Given the description of an element on the screen output the (x, y) to click on. 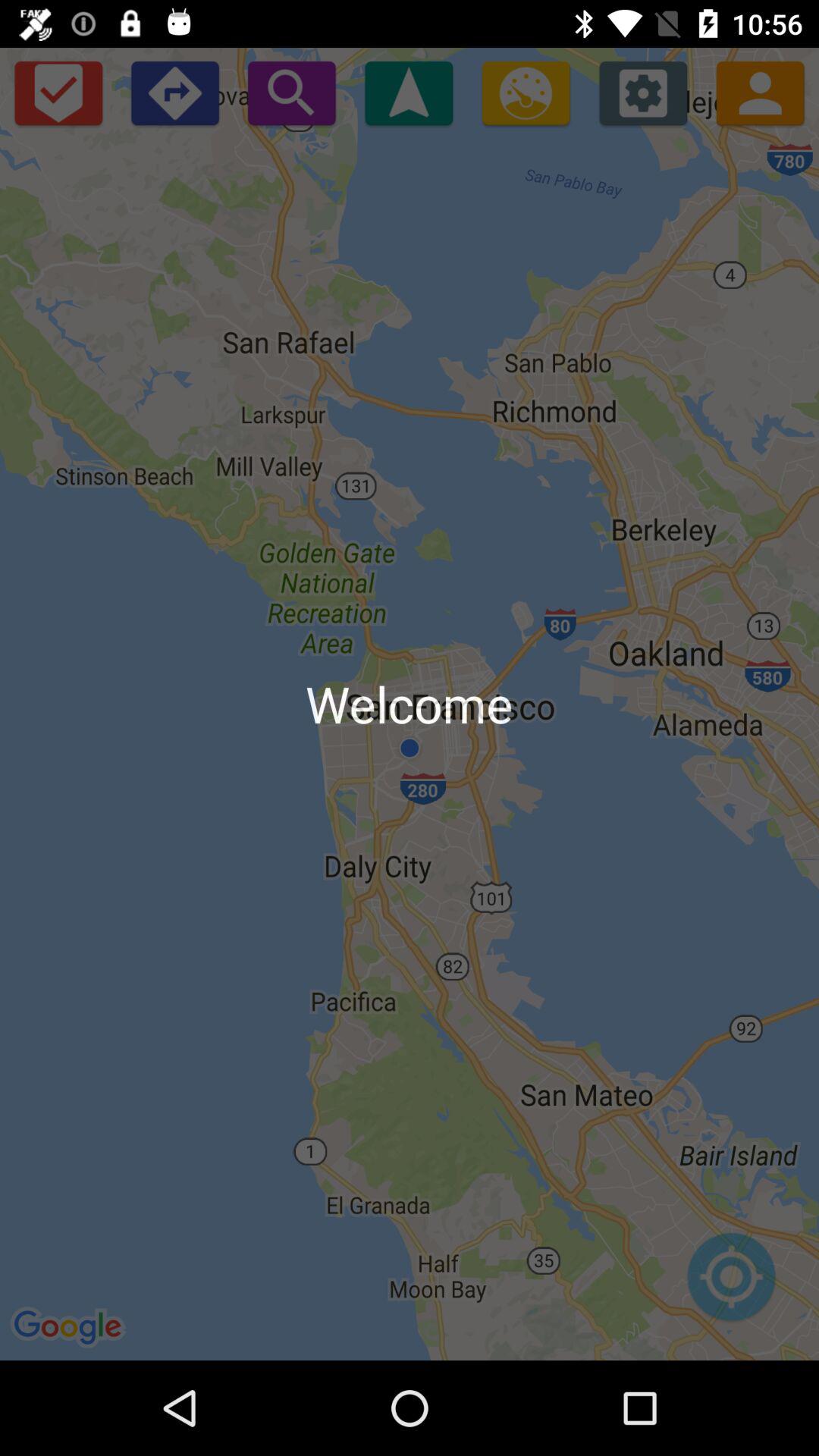
profile (760, 92)
